Given the description of an element on the screen output the (x, y) to click on. 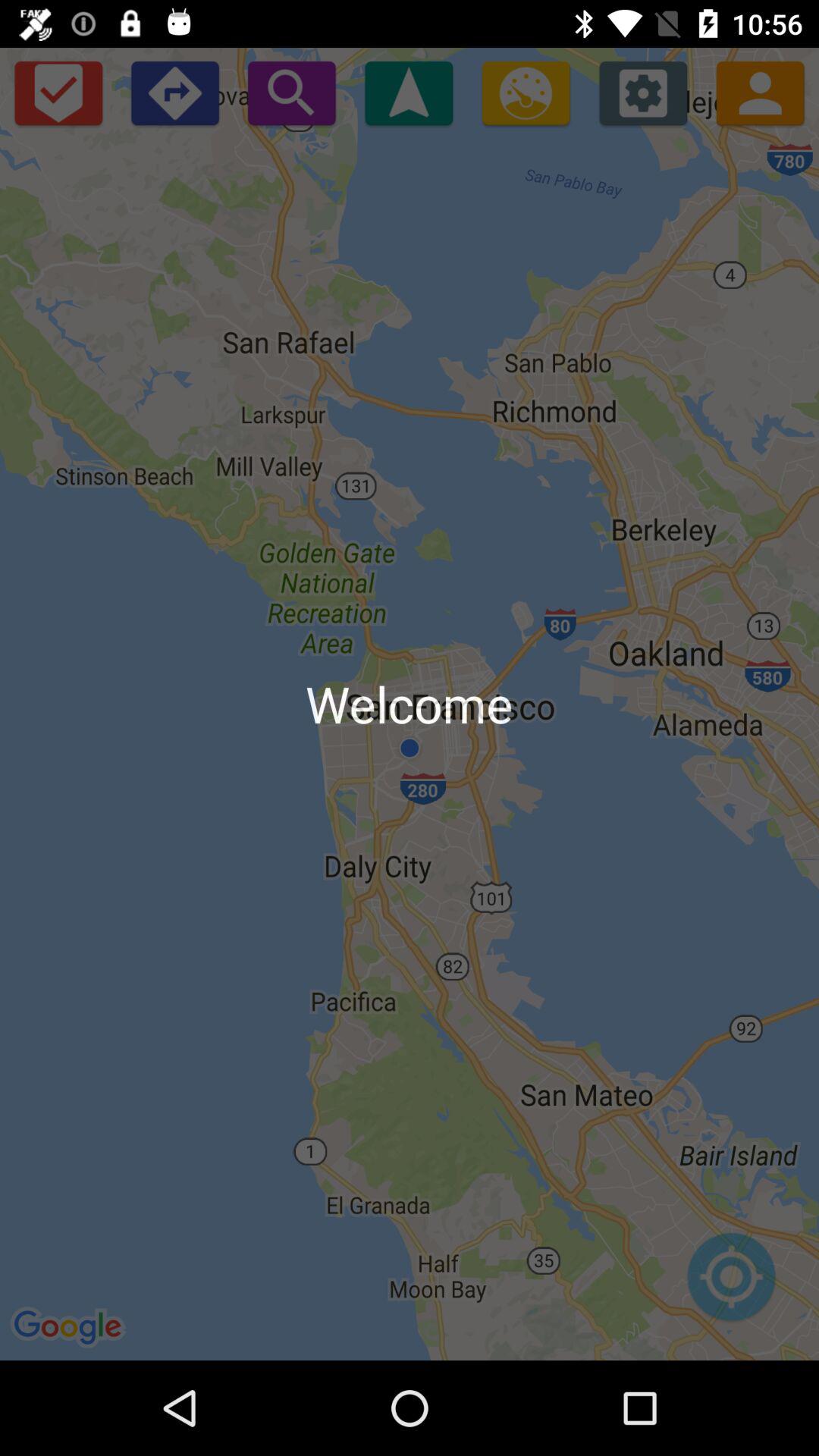
profile (760, 92)
